Given the description of an element on the screen output the (x, y) to click on. 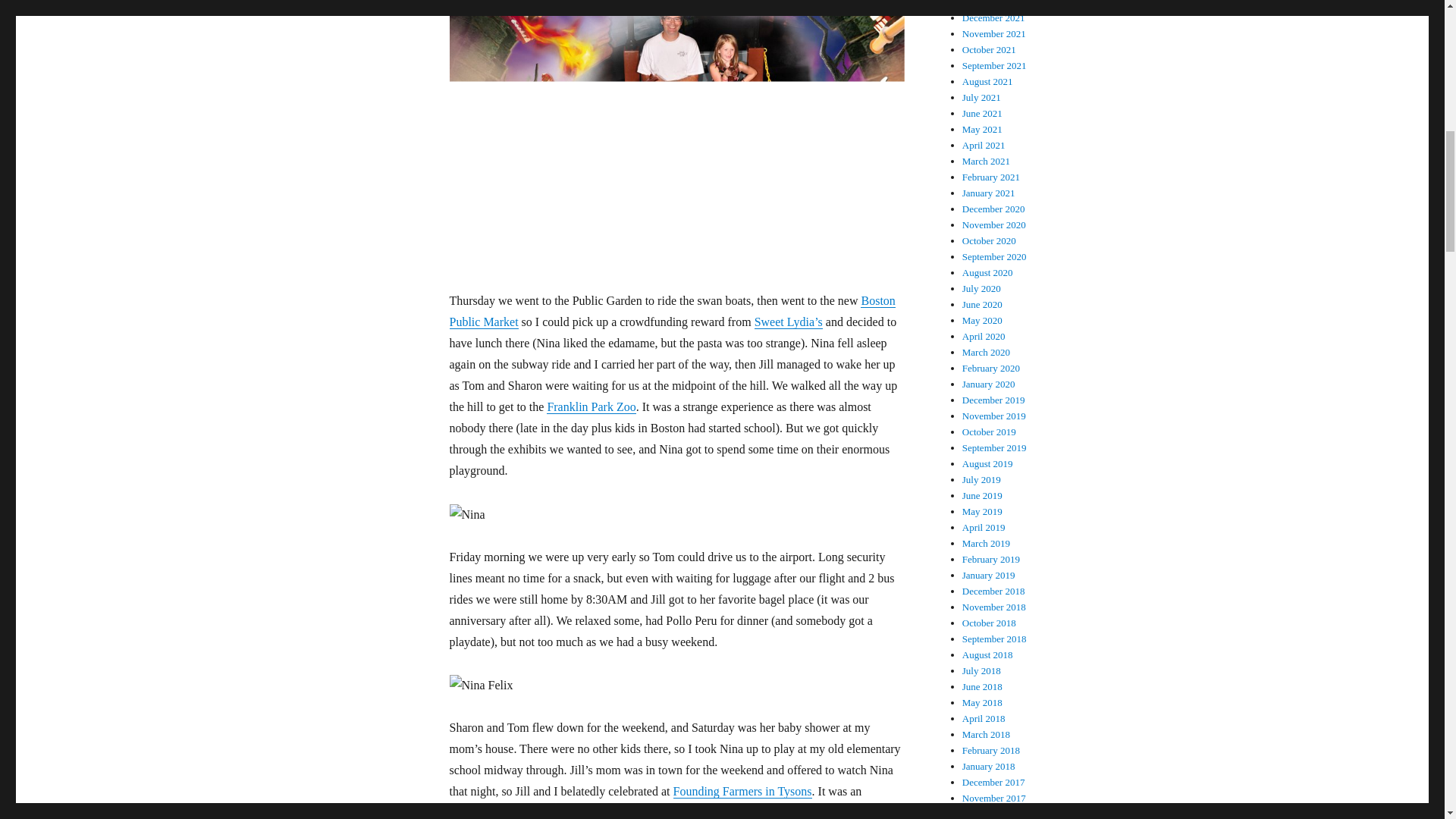
Founding Farmers in Tysons (742, 790)
Franklin Park Zoo (590, 406)
Boston Public Market (671, 311)
